Given the description of an element on the screen output the (x, y) to click on. 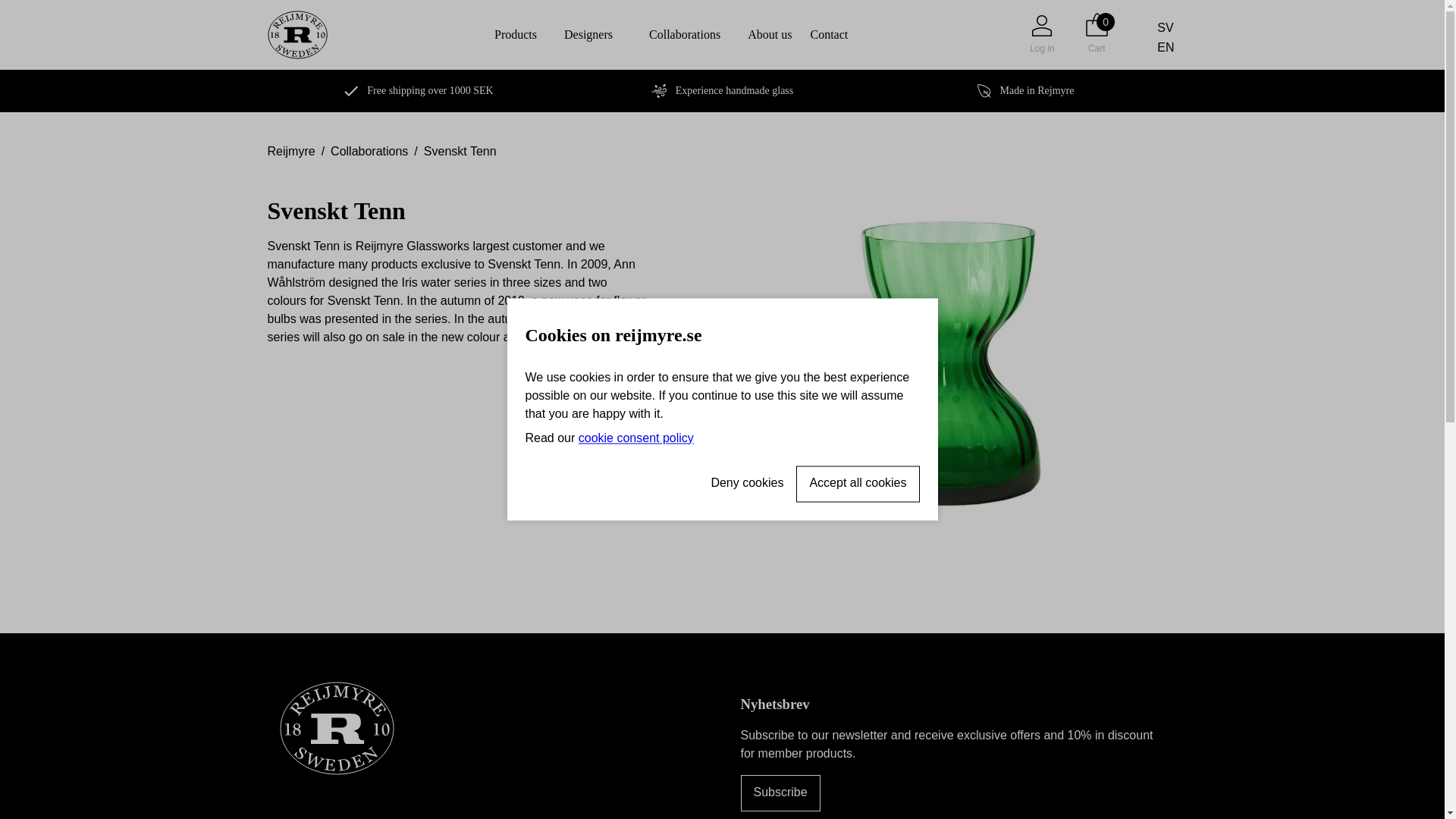
Collaborations (684, 34)
Designers (587, 34)
Products (515, 34)
